Given the description of an element on the screen output the (x, y) to click on. 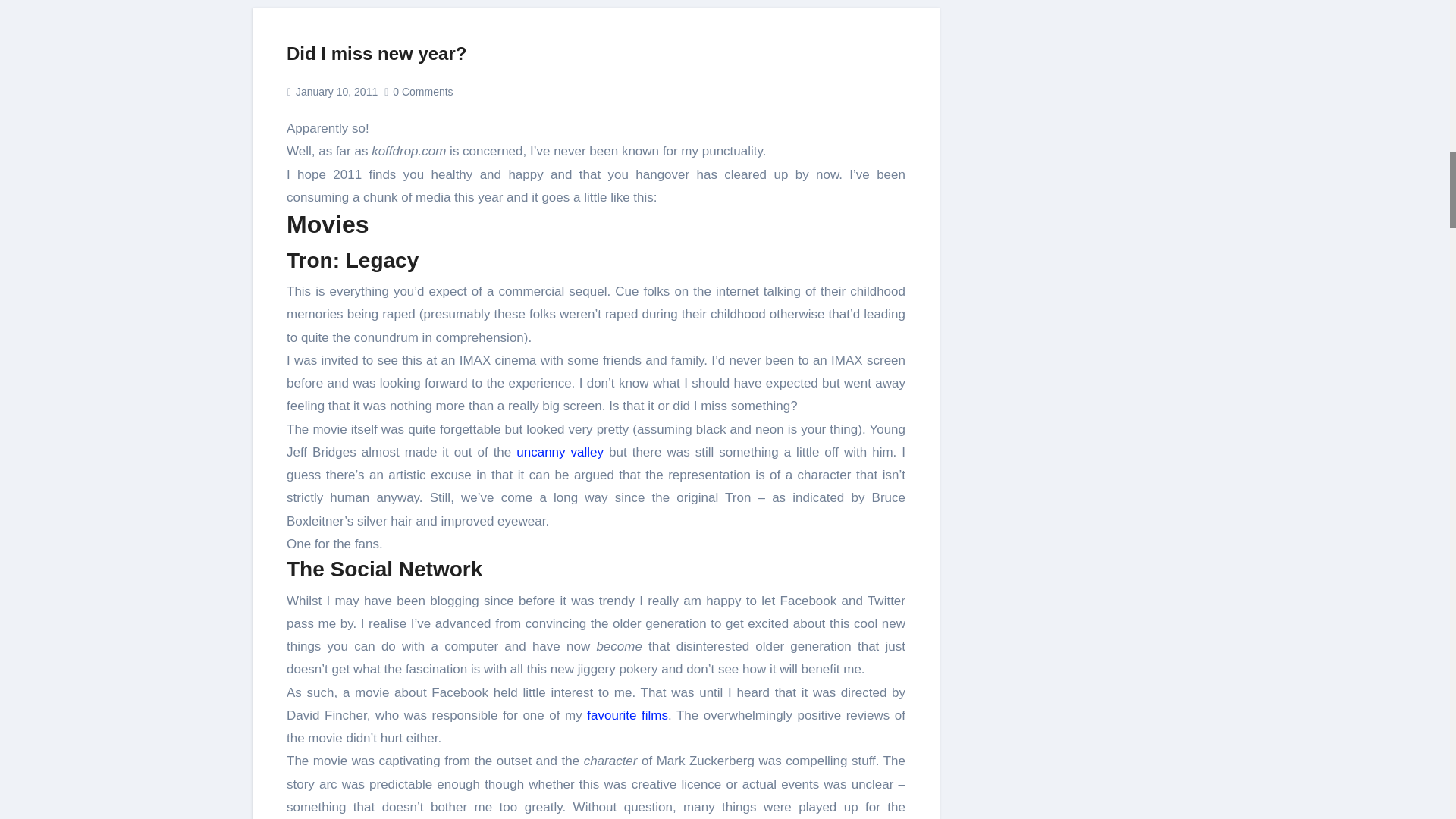
January 10, 2011 (336, 91)
uncanny valley (560, 452)
0 Comments (422, 91)
favourite films (627, 715)
Did I miss new year? (375, 53)
